Given the description of an element on the screen output the (x, y) to click on. 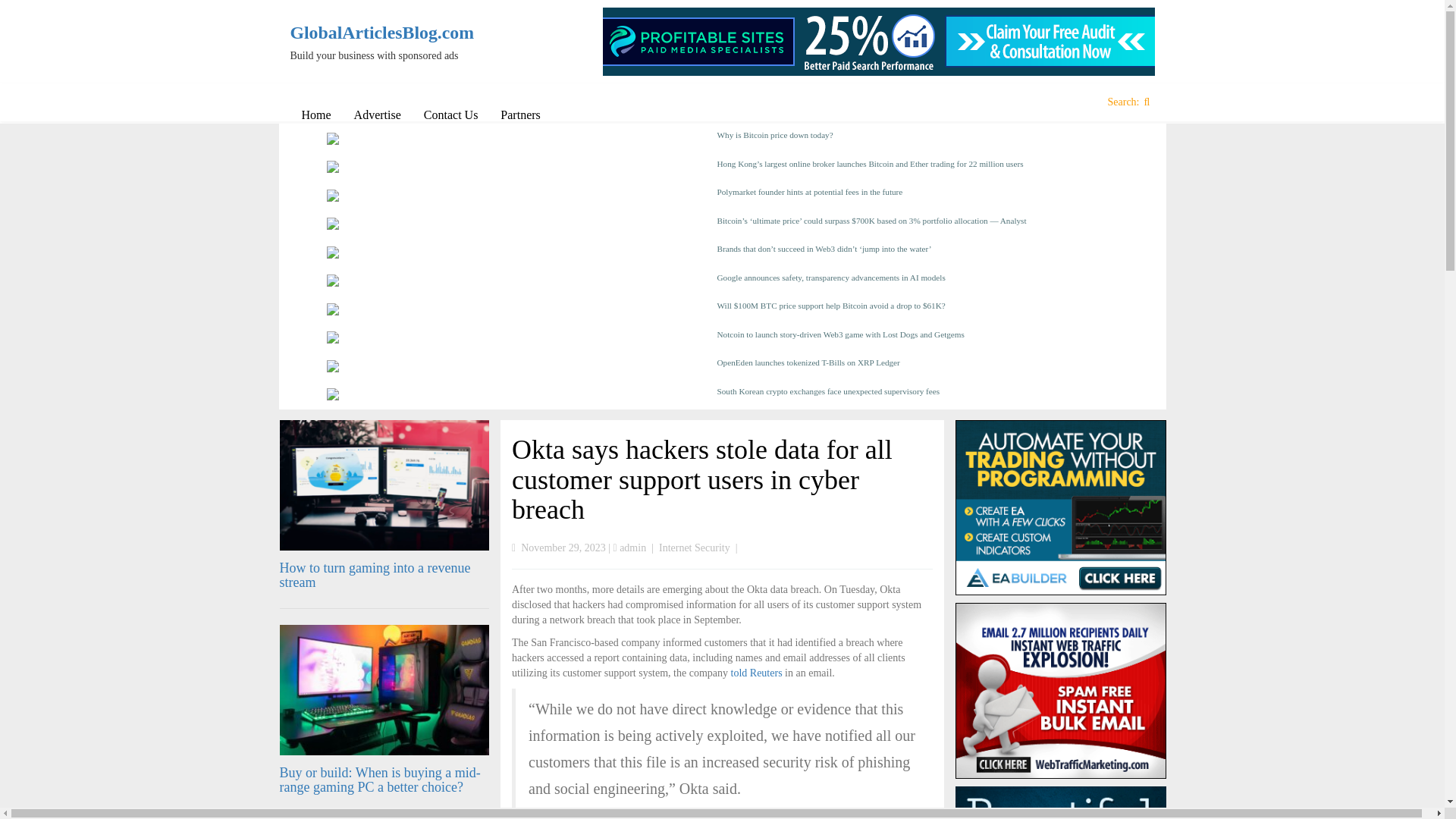
Polymarket founder hints at potential fees in the future (917, 196)
How to turn gaming into a revenue stream (374, 575)
Why is Bitcoin price down today? (917, 139)
Contact Us (450, 115)
Home (315, 115)
OpenEden launches tokenized T-Bills on XRP Ledger (917, 366)
GlobalArticlesBlog.com (389, 32)
Advertise (377, 115)
Posts by admin (633, 547)
Partners (520, 115)
